Given the description of an element on the screen output the (x, y) to click on. 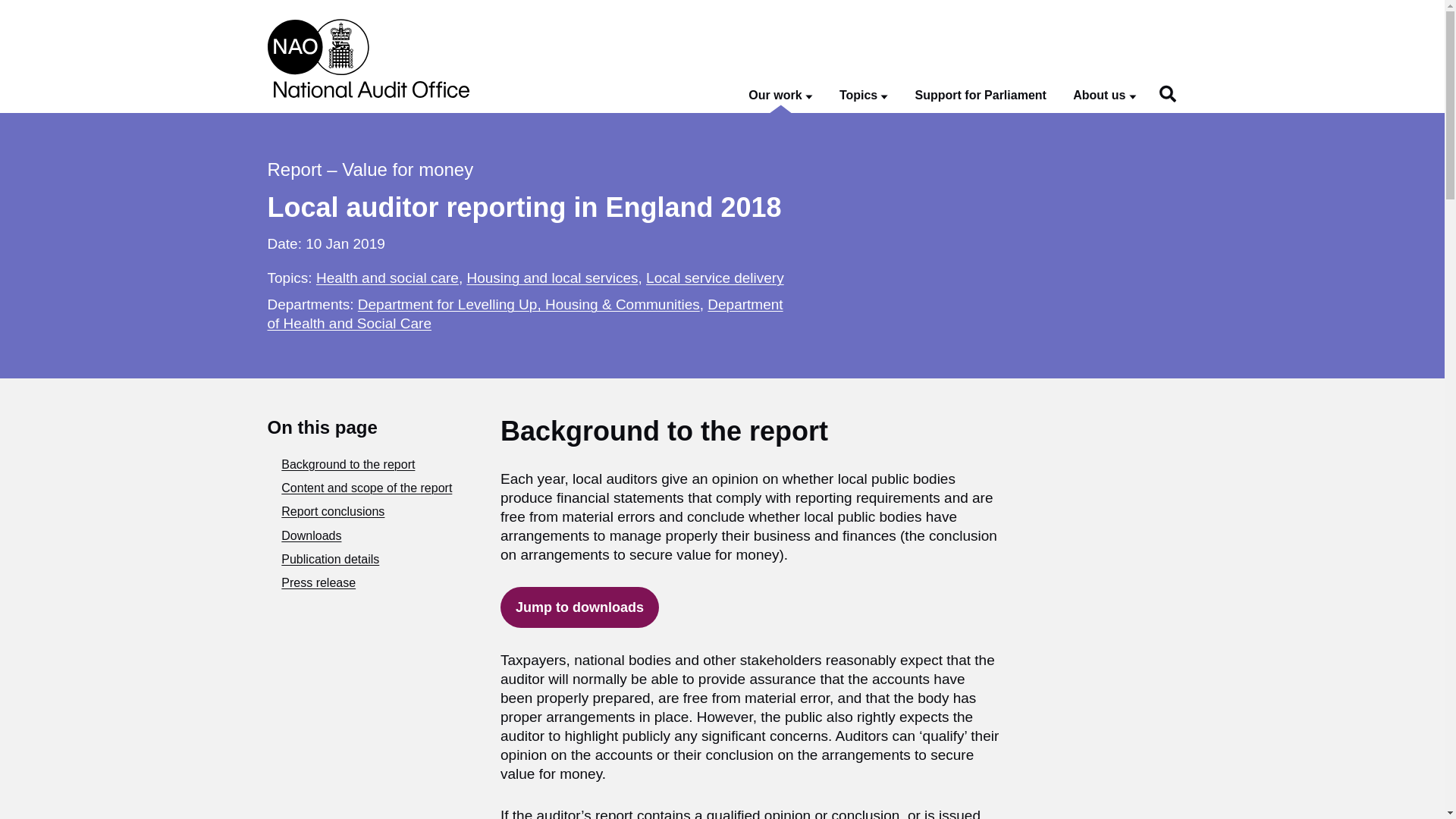
About us (1104, 95)
Our work (780, 95)
Topics (864, 95)
Skip to main content (11, 7)
Support for Parliament (980, 95)
